Given the description of an element on the screen output the (x, y) to click on. 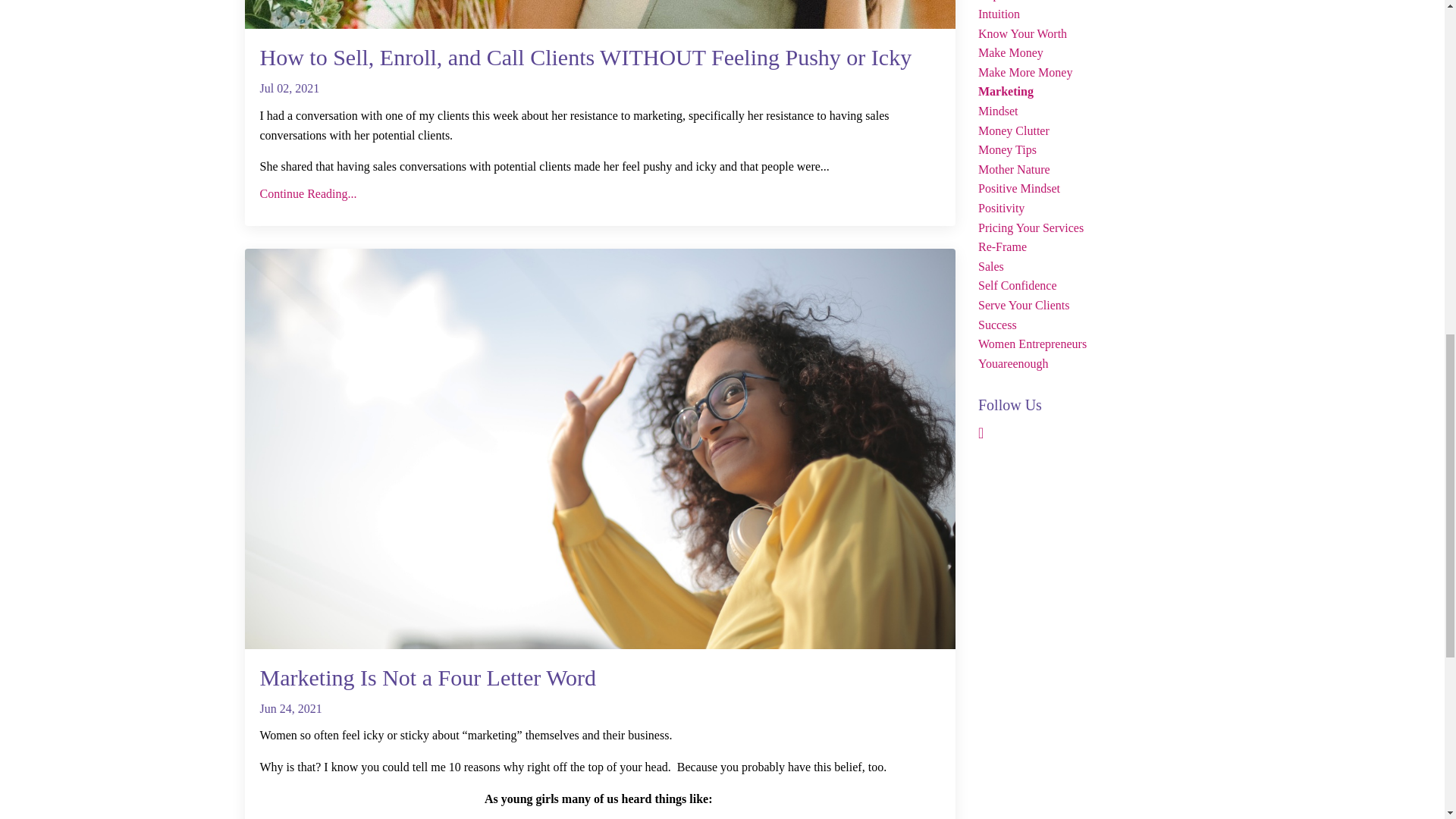
Mother Nature (1088, 169)
Make More Money (1088, 72)
Positive Mindset (1088, 189)
Marketing Is Not a Four Letter Word (599, 677)
Make Money (1088, 53)
Mindset (1088, 111)
Marketing (1088, 91)
Positivity (1088, 208)
Intuition (1088, 14)
Know Your Worth (1088, 34)
Money Clutter (1088, 130)
Money Tips (1088, 149)
Continue Reading... (599, 193)
Inspiration (1088, 2)
